Given the description of an element on the screen output the (x, y) to click on. 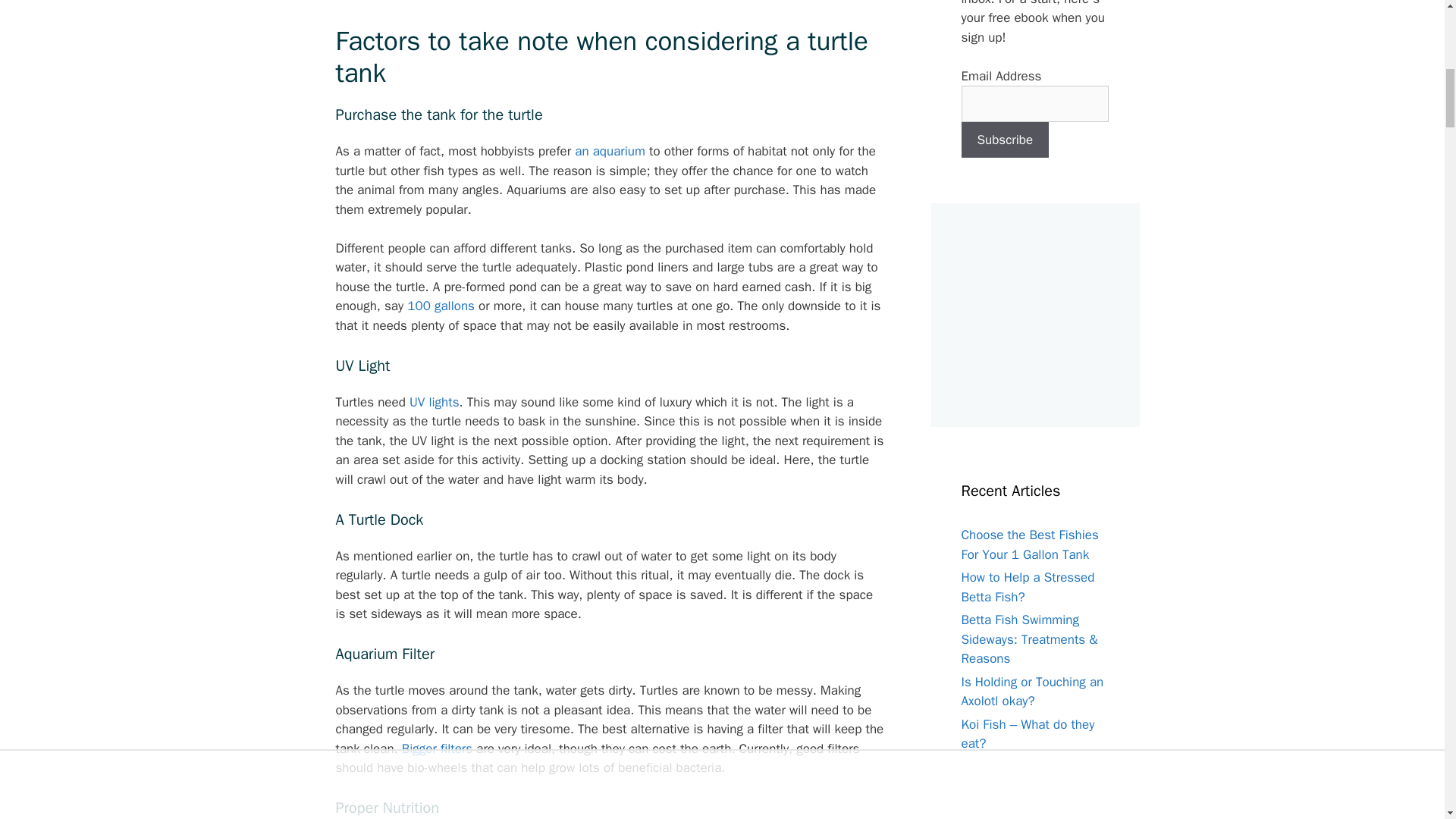
100 gallons (440, 305)
UV lights (434, 401)
Bigger filters (436, 748)
Subscribe (1004, 140)
an aquarium (610, 150)
